Given the description of an element on the screen output the (x, y) to click on. 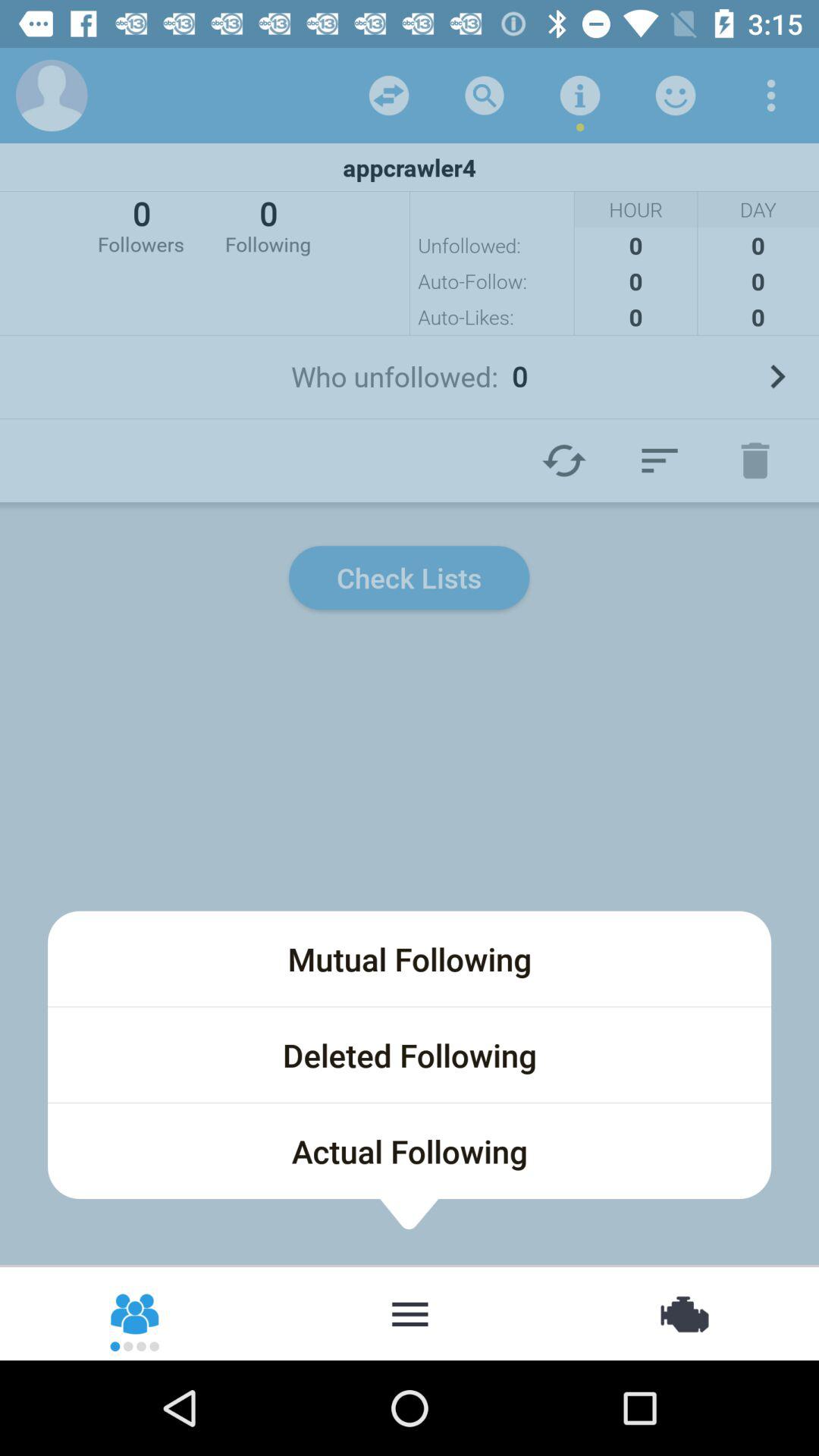
followers list (136, 1312)
